Given the description of an element on the screen output the (x, y) to click on. 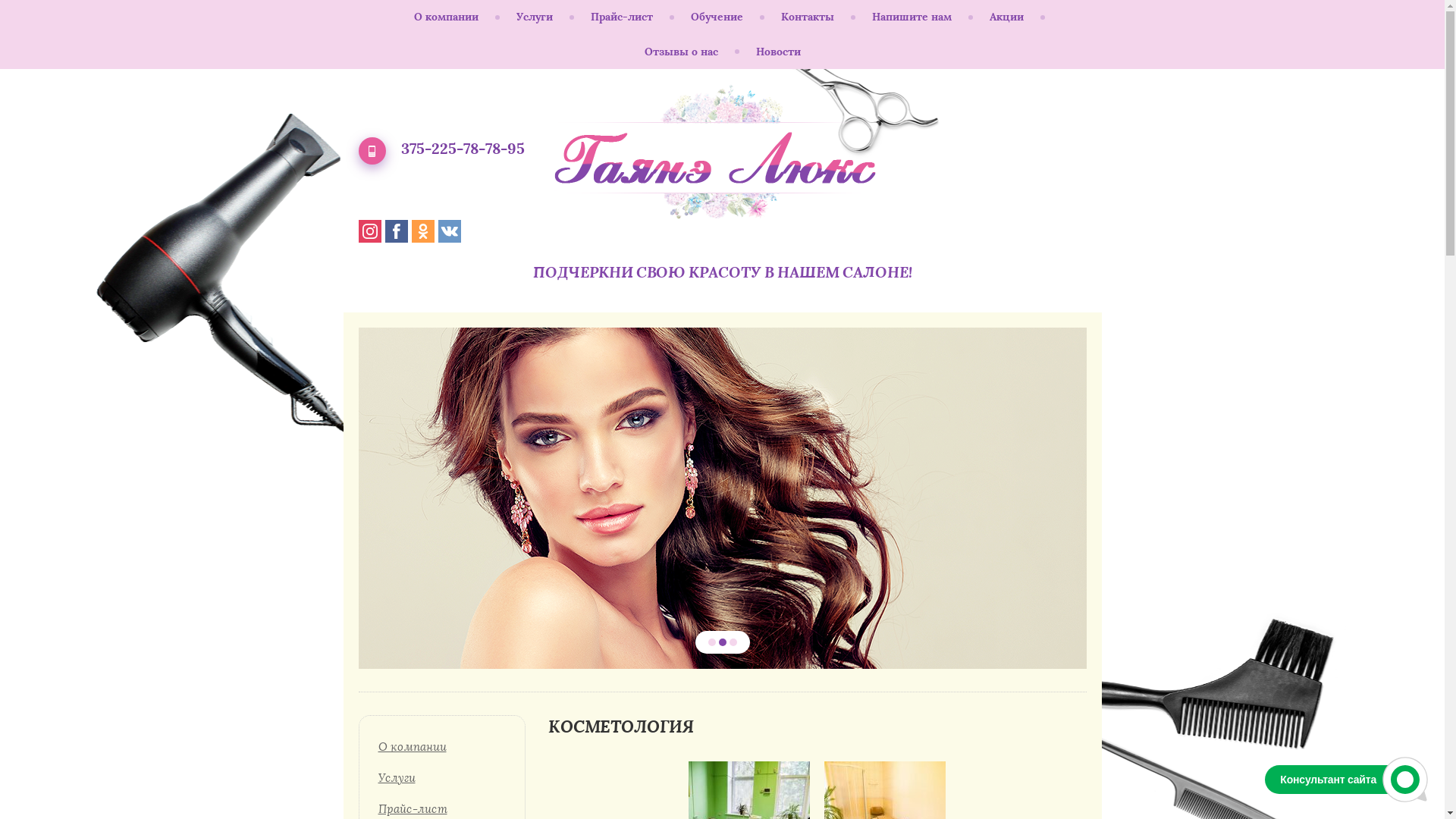
375-225-78-78-95 Element type: text (462, 147)
